Given the description of an element on the screen output the (x, y) to click on. 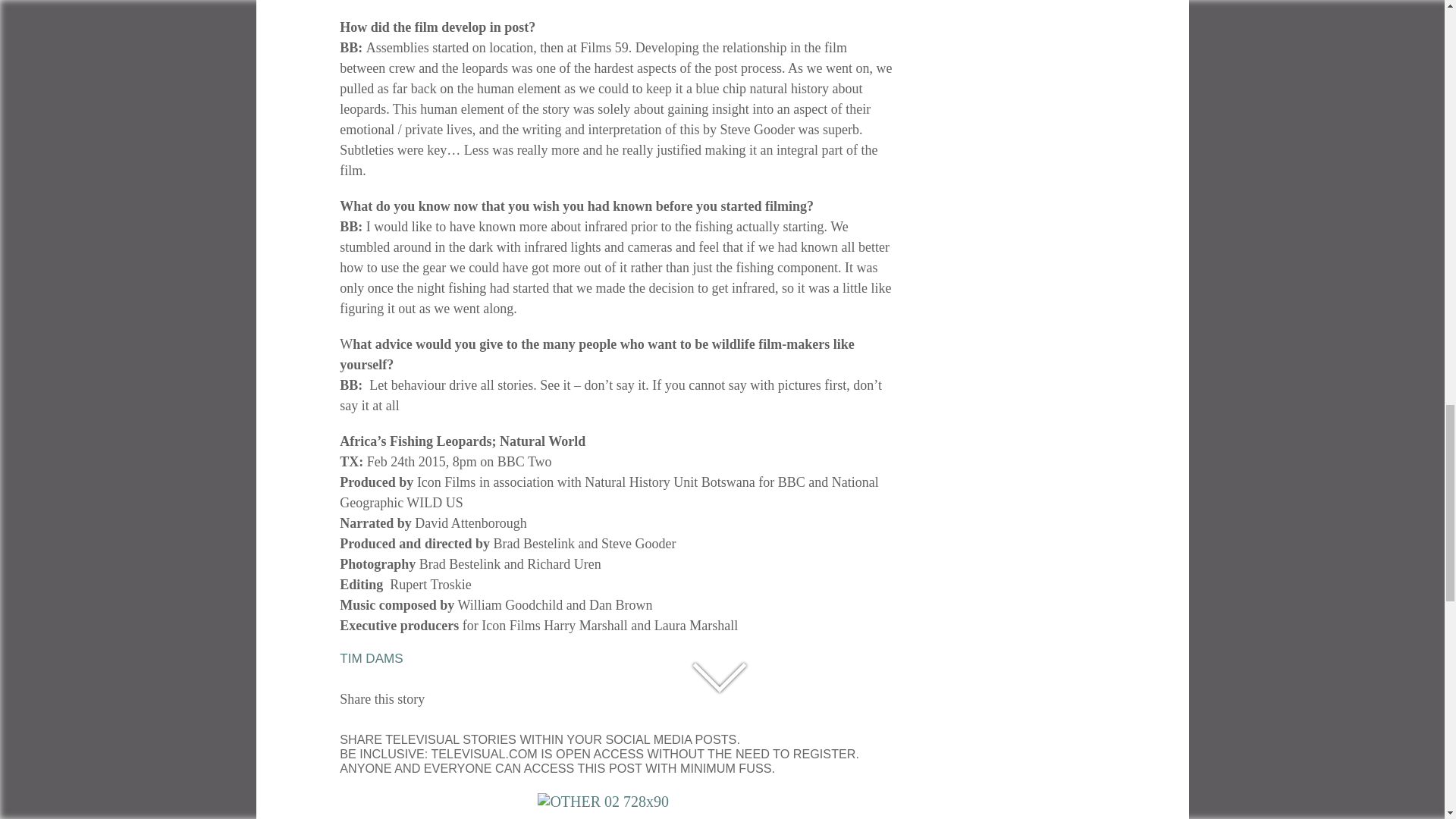
TIM DAMS (371, 658)
